Given the description of an element on the screen output the (x, y) to click on. 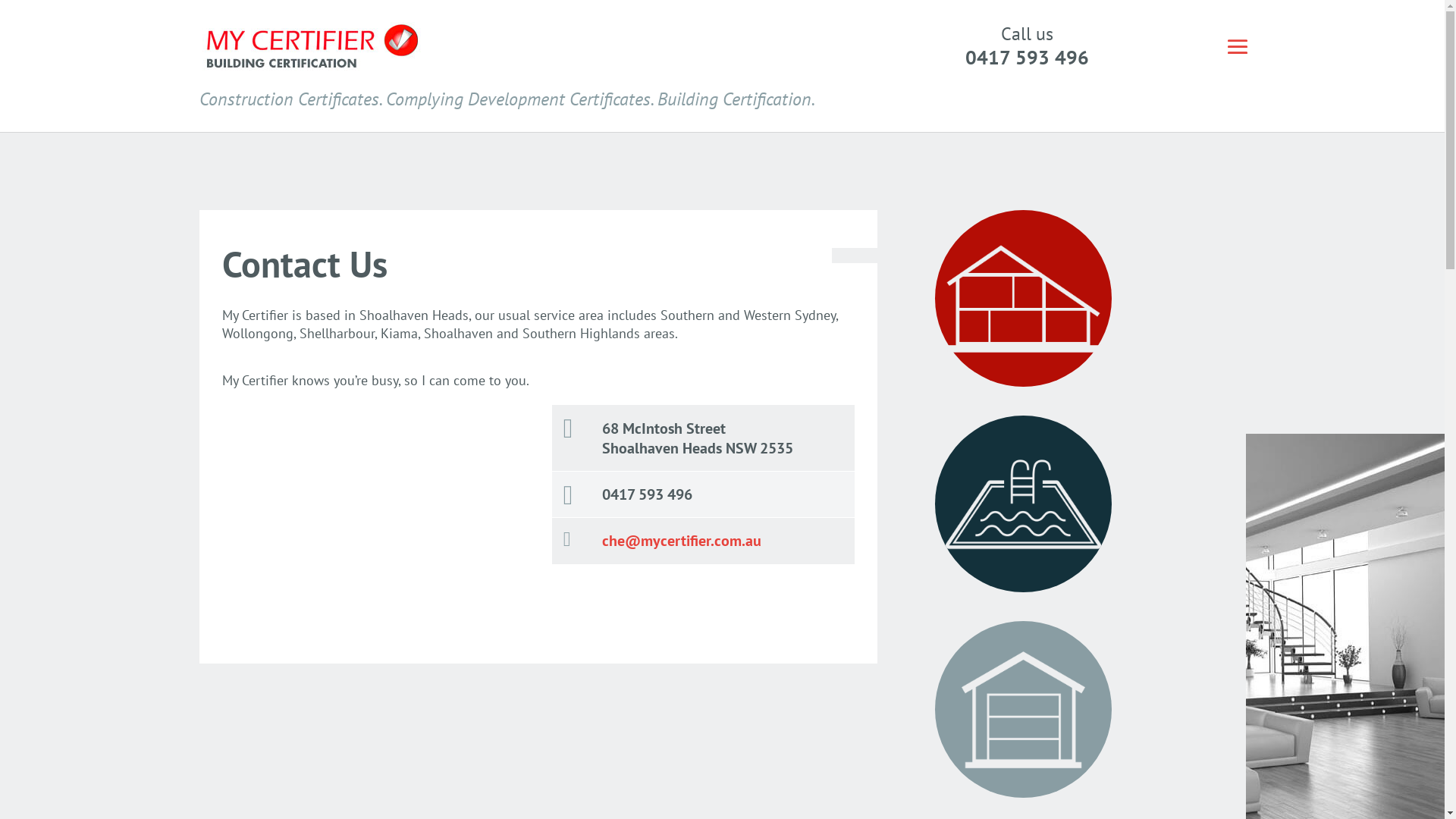
che@mycertifier.com.au Element type: text (681, 540)
